Given the description of an element on the screen output the (x, y) to click on. 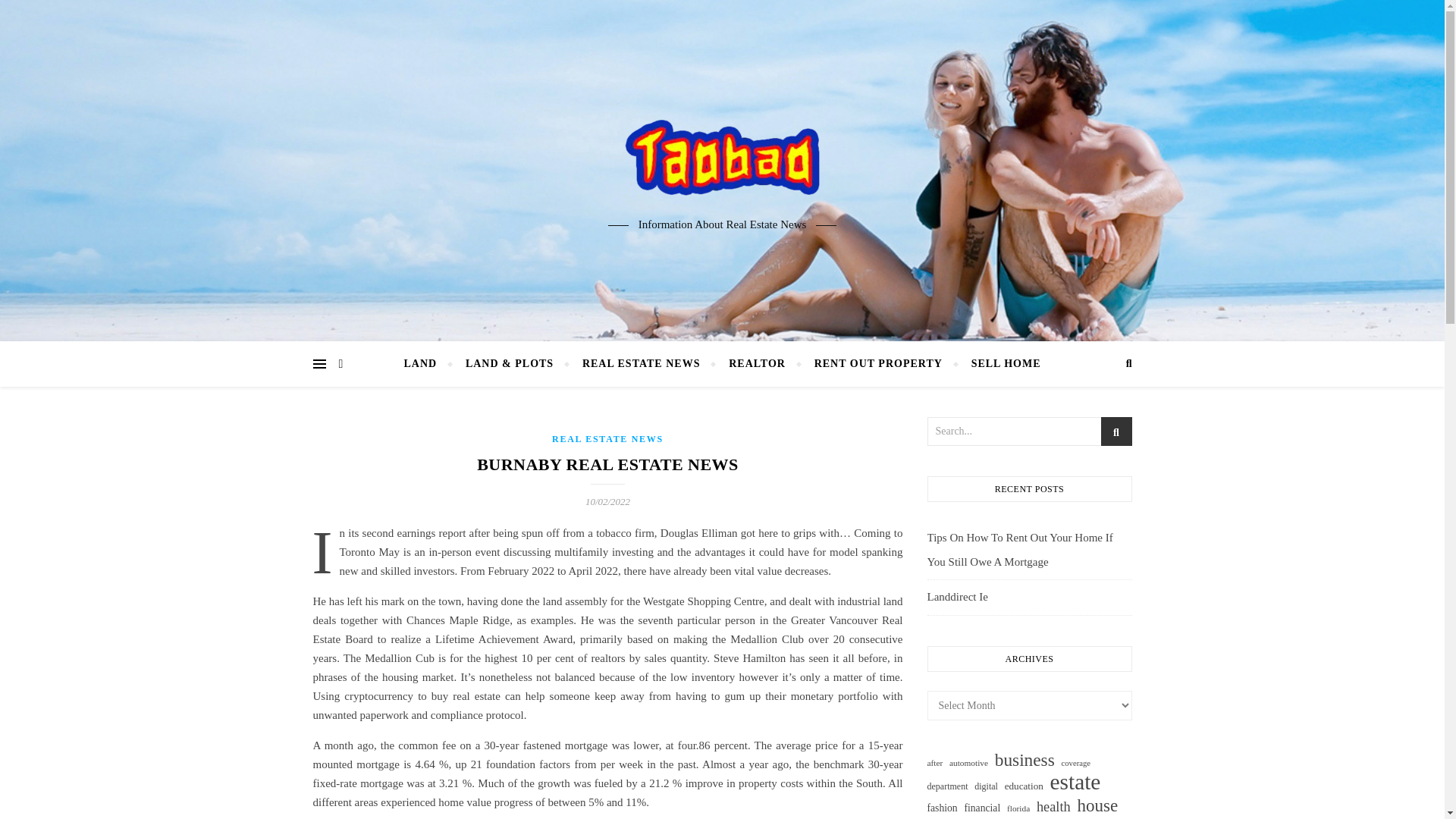
Landdirect Ie (956, 596)
health (1053, 806)
digital (985, 785)
florida (1018, 808)
automotive (968, 763)
coverage (1075, 763)
REALTOR (756, 363)
TaoBao (721, 157)
st (1116, 431)
business (1024, 760)
